Given the description of an element on the screen output the (x, y) to click on. 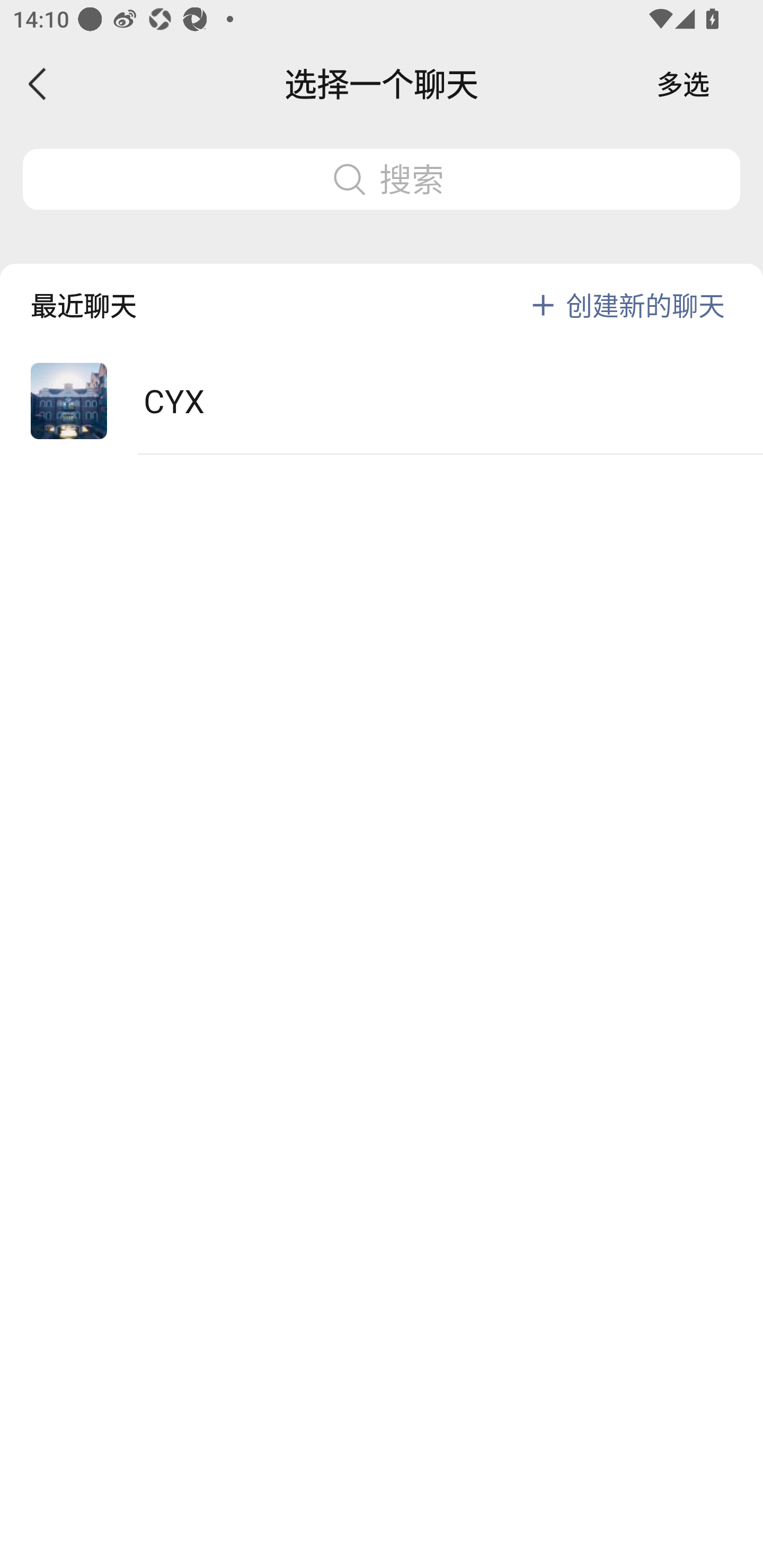
返回 (38, 83)
多选 (683, 83)
最近聊天 创建新的聊天 (381, 290)
创建新的聊天 (645, 304)
CYX (381, 401)
